Given the description of an element on the screen output the (x, y) to click on. 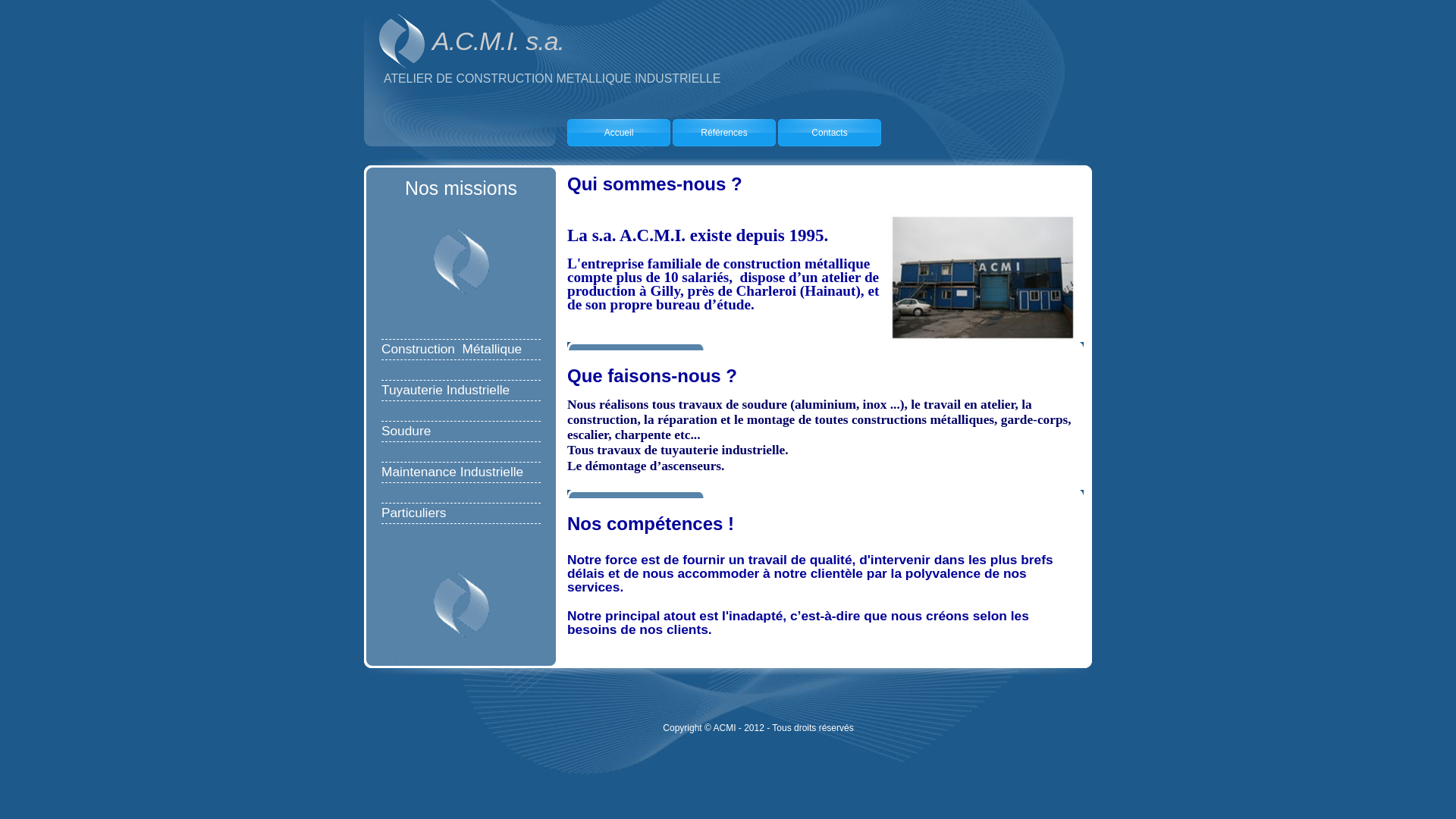
Particuliers Element type: text (413, 513)
Maintenance Industrielle Element type: text (452, 472)
Accueil Element type: text (618, 132)
Soudure Element type: text (405, 431)
Contacts Element type: text (829, 132)
Tuyauterie Industrielle Element type: text (445, 390)
